Given the description of an element on the screen output the (x, y) to click on. 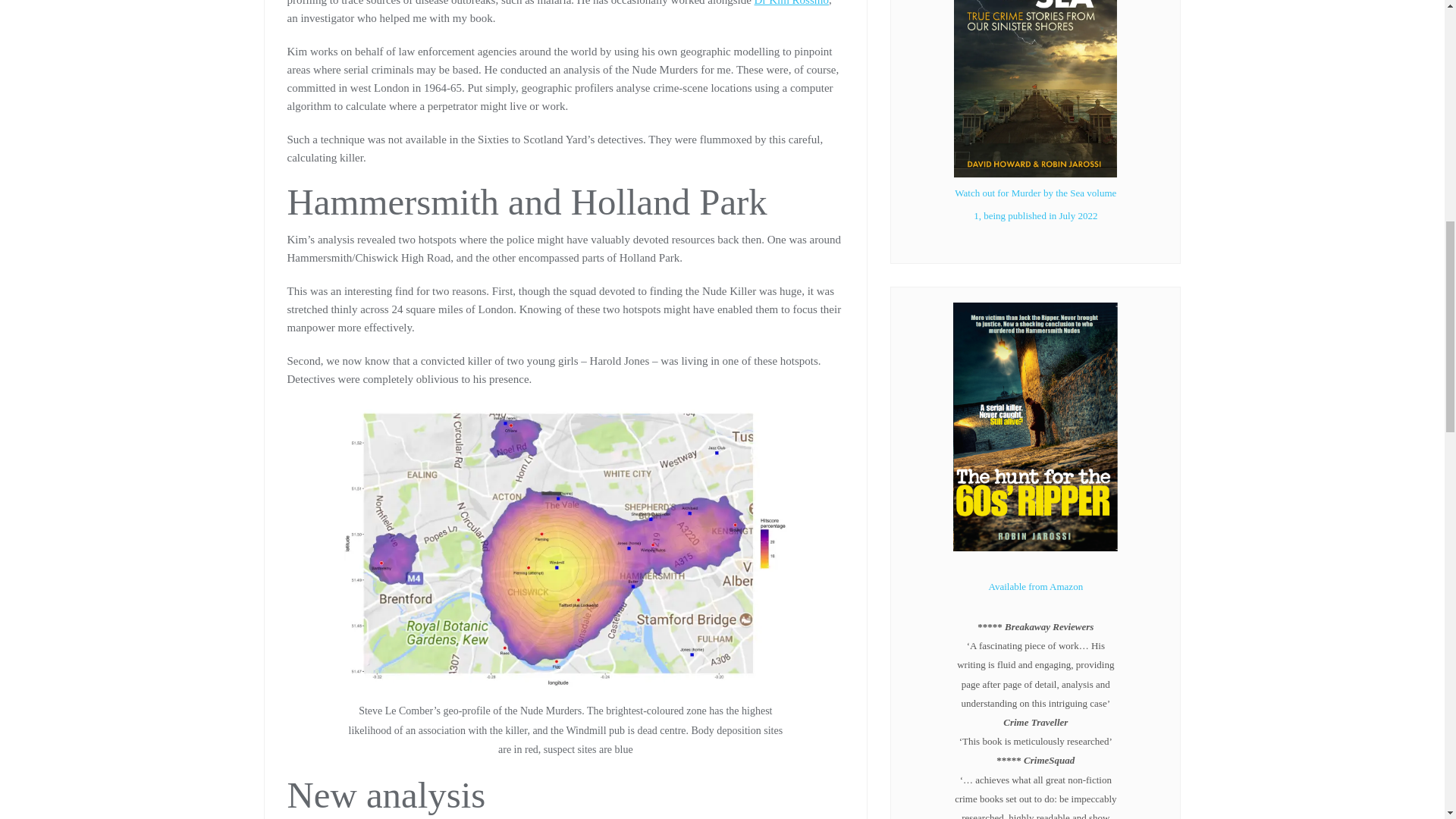
Dr Kim Rossmo (791, 2)
